Given the description of an element on the screen output the (x, y) to click on. 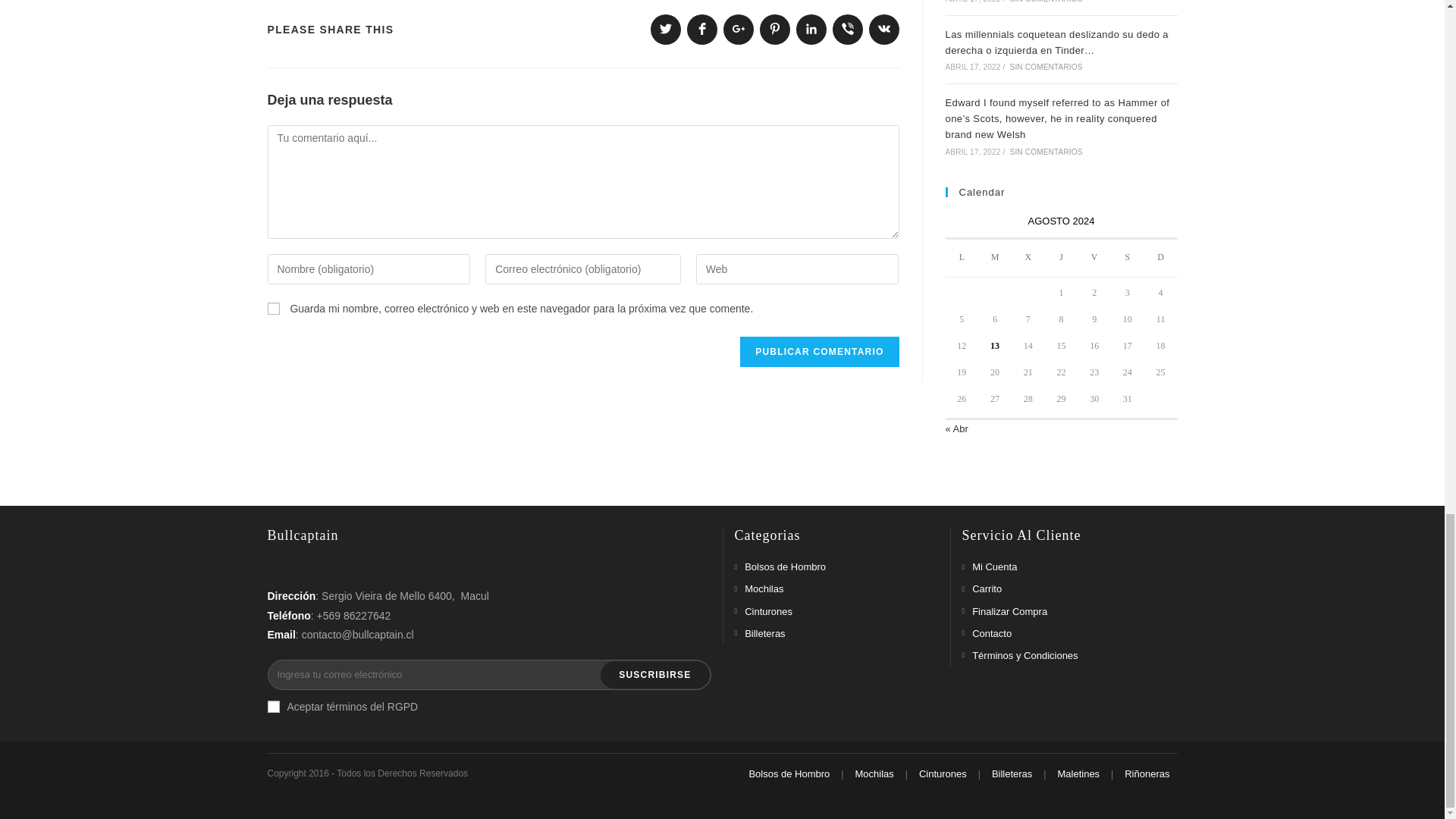
jueves (1061, 257)
lunes (961, 257)
yes (272, 308)
Publicar comentario (818, 351)
domingo (1160, 257)
1 (272, 706)
viernes (1093, 257)
martes (994, 257)
